Given the description of an element on the screen output the (x, y) to click on. 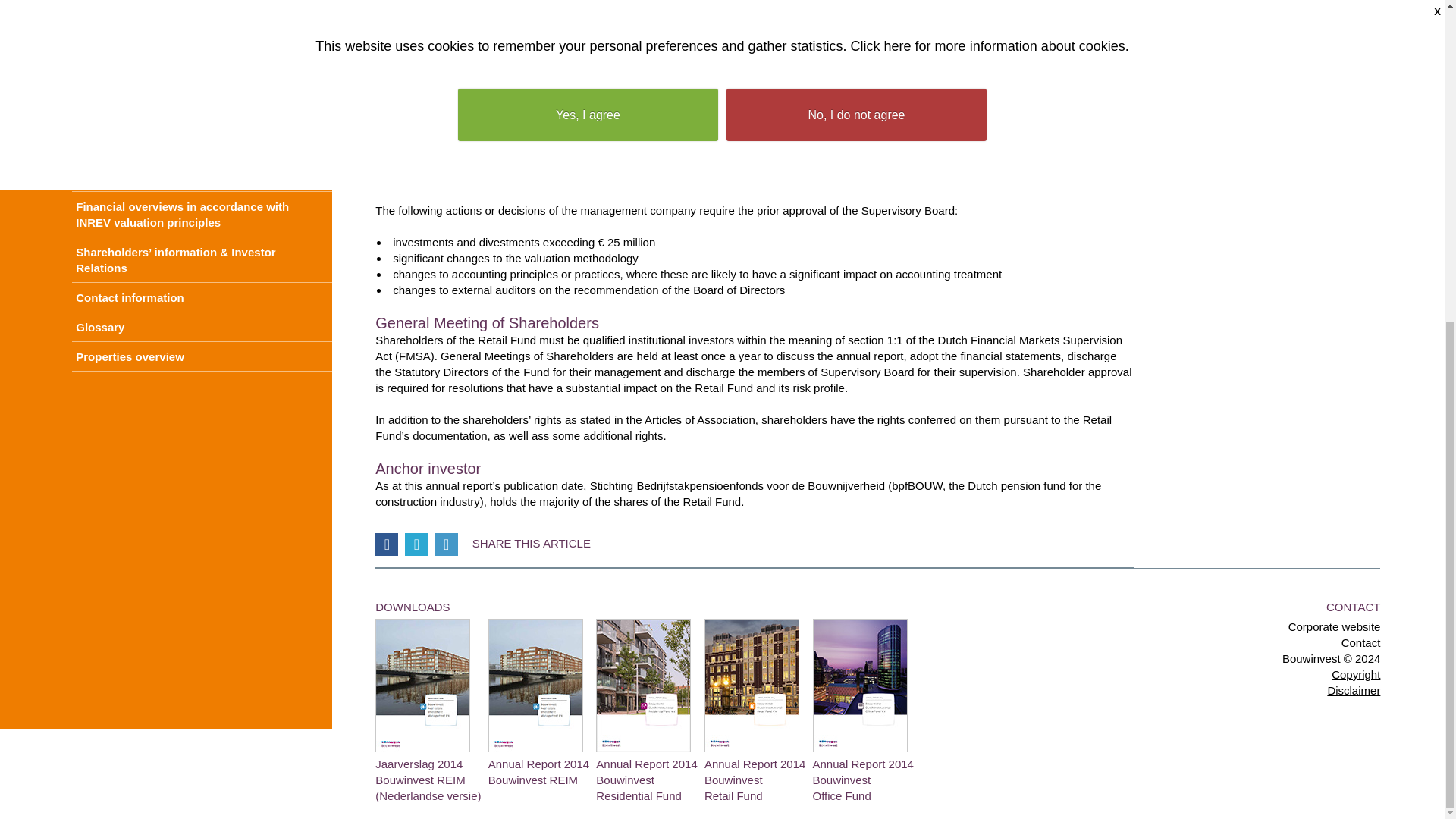
Management company (201, 29)
Regulation (201, 88)
External auditor (201, 59)
Structure of the Fund (201, 7)
